Given the description of an element on the screen output the (x, y) to click on. 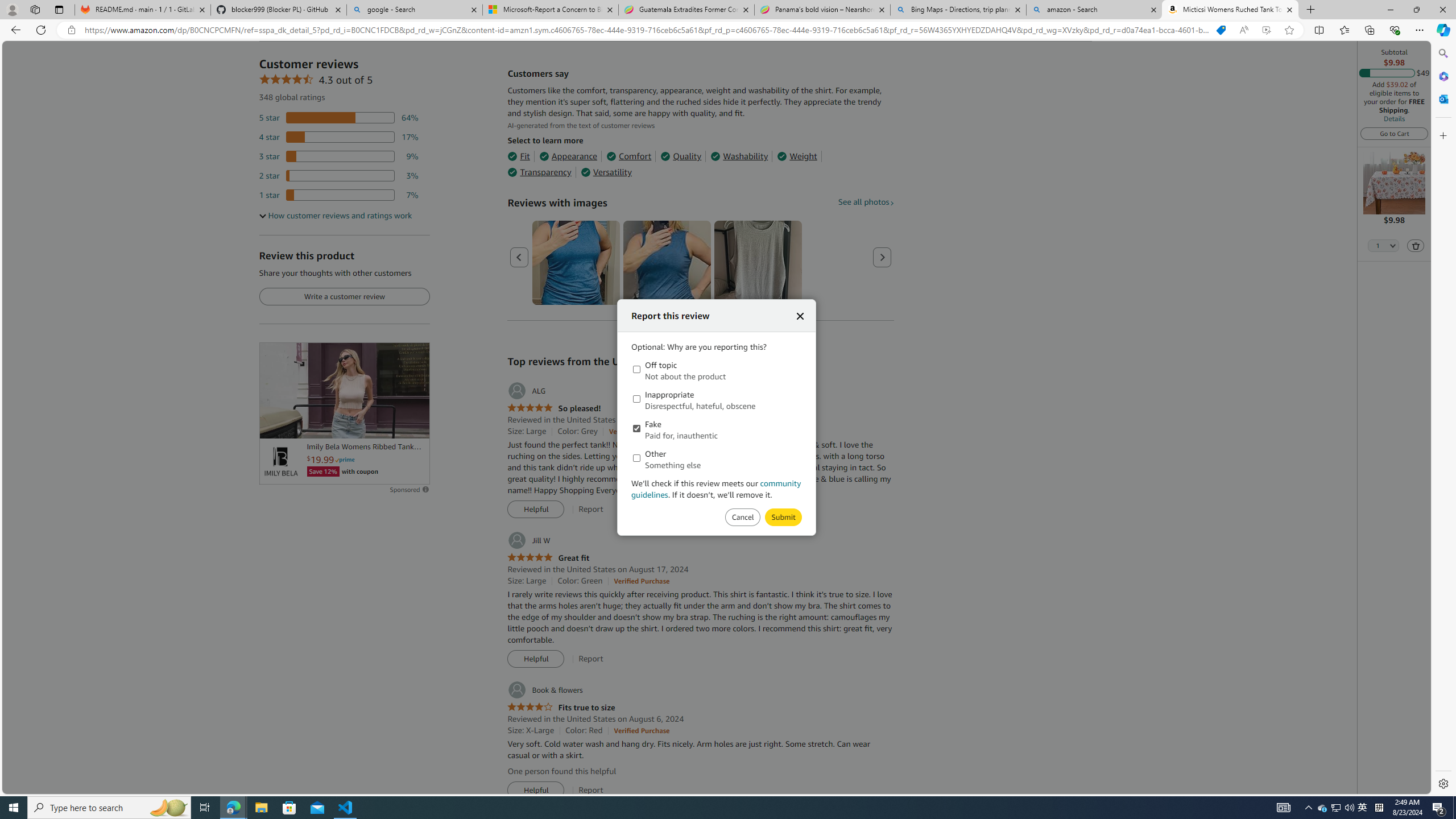
Report (590, 790)
Previous page (518, 256)
ALG (526, 390)
Book & flowers (544, 690)
Versatility (605, 172)
Class: a-carousel-card (757, 262)
17 percent of reviews have 4 stars (339, 137)
Appearance (568, 156)
